Given the description of an element on the screen output the (x, y) to click on. 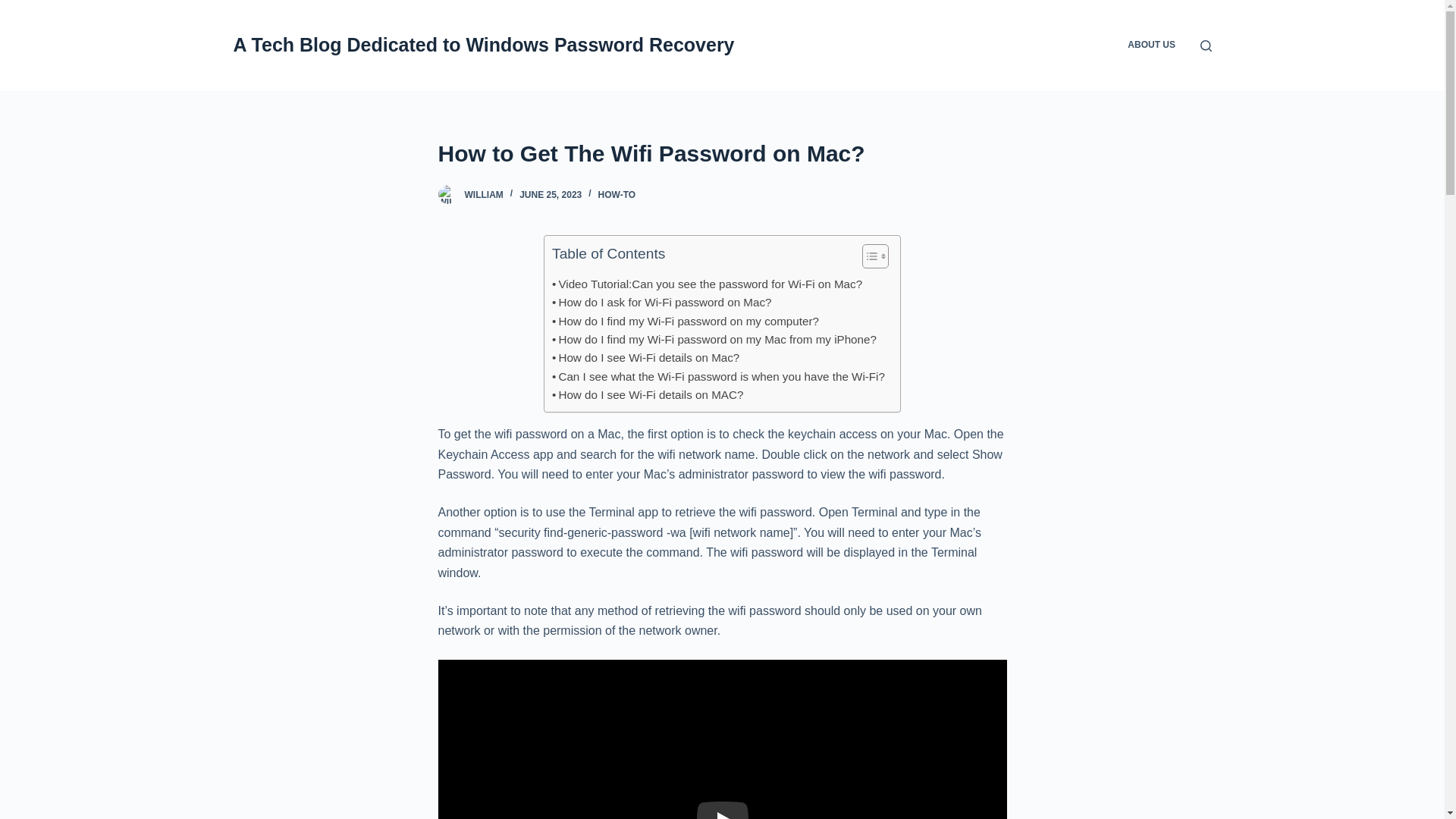
A Tech Blog Dedicated to Windows Password Recovery (483, 44)
How do I find my Wi-Fi password on my Mac from my iPhone? (713, 339)
How to Get The Wifi Password on Mac? (722, 153)
Skip to content (15, 7)
How do I find my Wi-Fi password on my Mac from my iPhone? (713, 339)
How do I find my Wi-Fi password on my computer? (684, 321)
How do I ask for Wi-Fi password on Mac? (661, 302)
How do I find my Wi-Fi password on my computer? (684, 321)
How do I see Wi-Fi details on Mac? (645, 357)
Posts by William (483, 194)
How do I see Wi-Fi details on MAC? (646, 394)
How do I see Wi-Fi details on Mac? (645, 357)
How do I ask for Wi-Fi password on Mac? (661, 302)
